Given the description of an element on the screen output the (x, y) to click on. 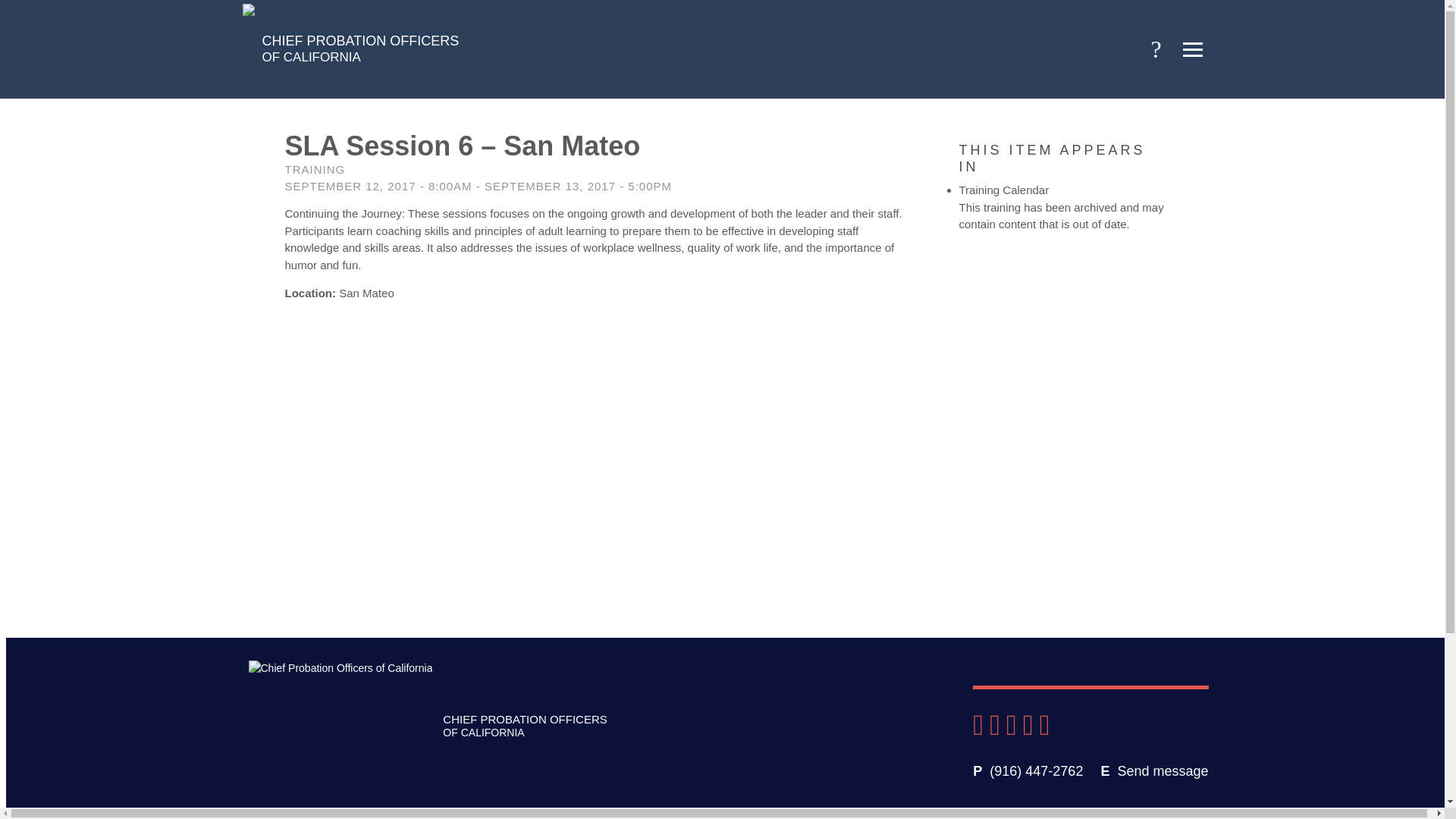
Back to home (351, 49)
